Given the description of an element on the screen output the (x, y) to click on. 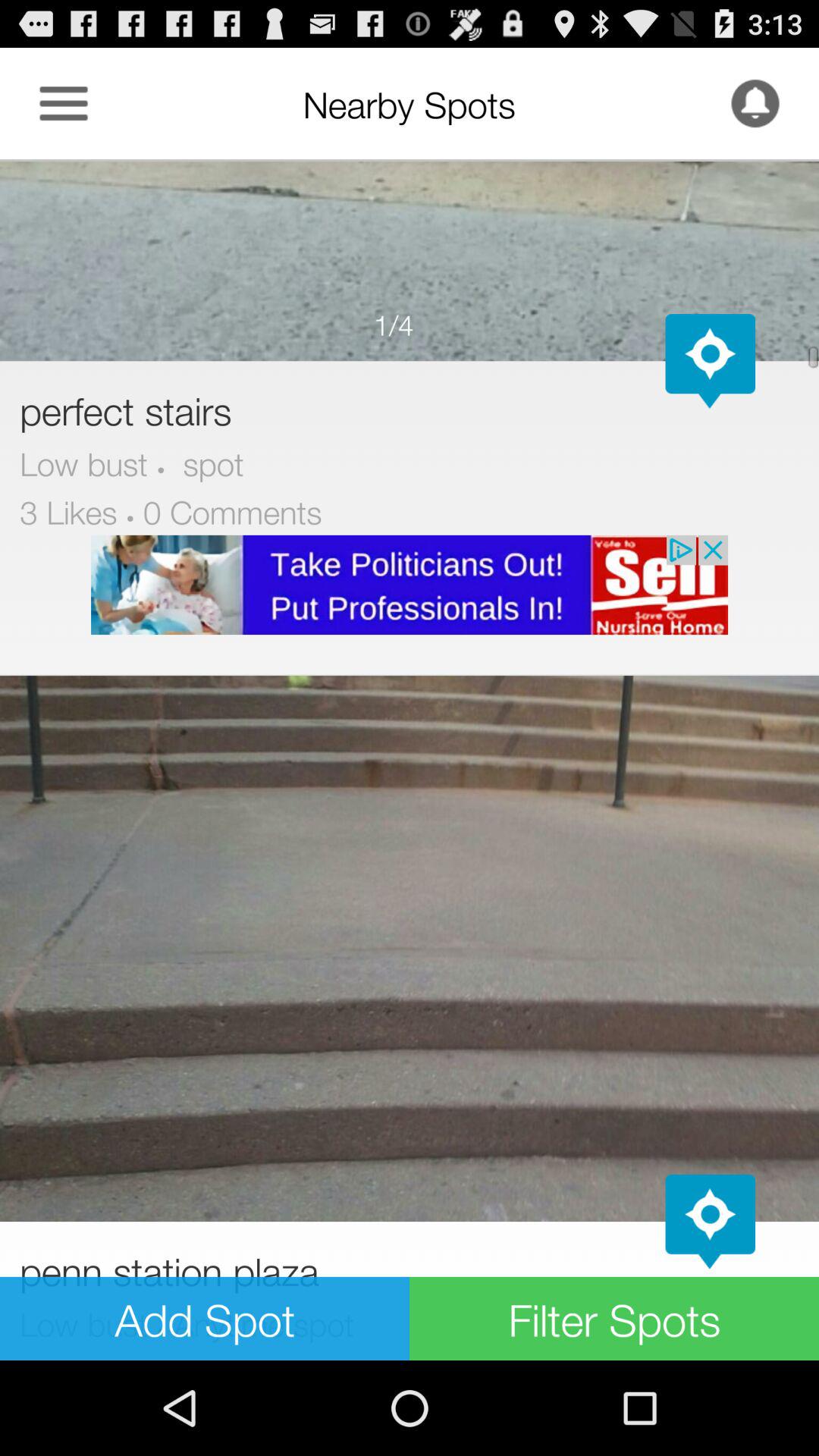
enable notifications (755, 103)
